Given the description of an element on the screen output the (x, y) to click on. 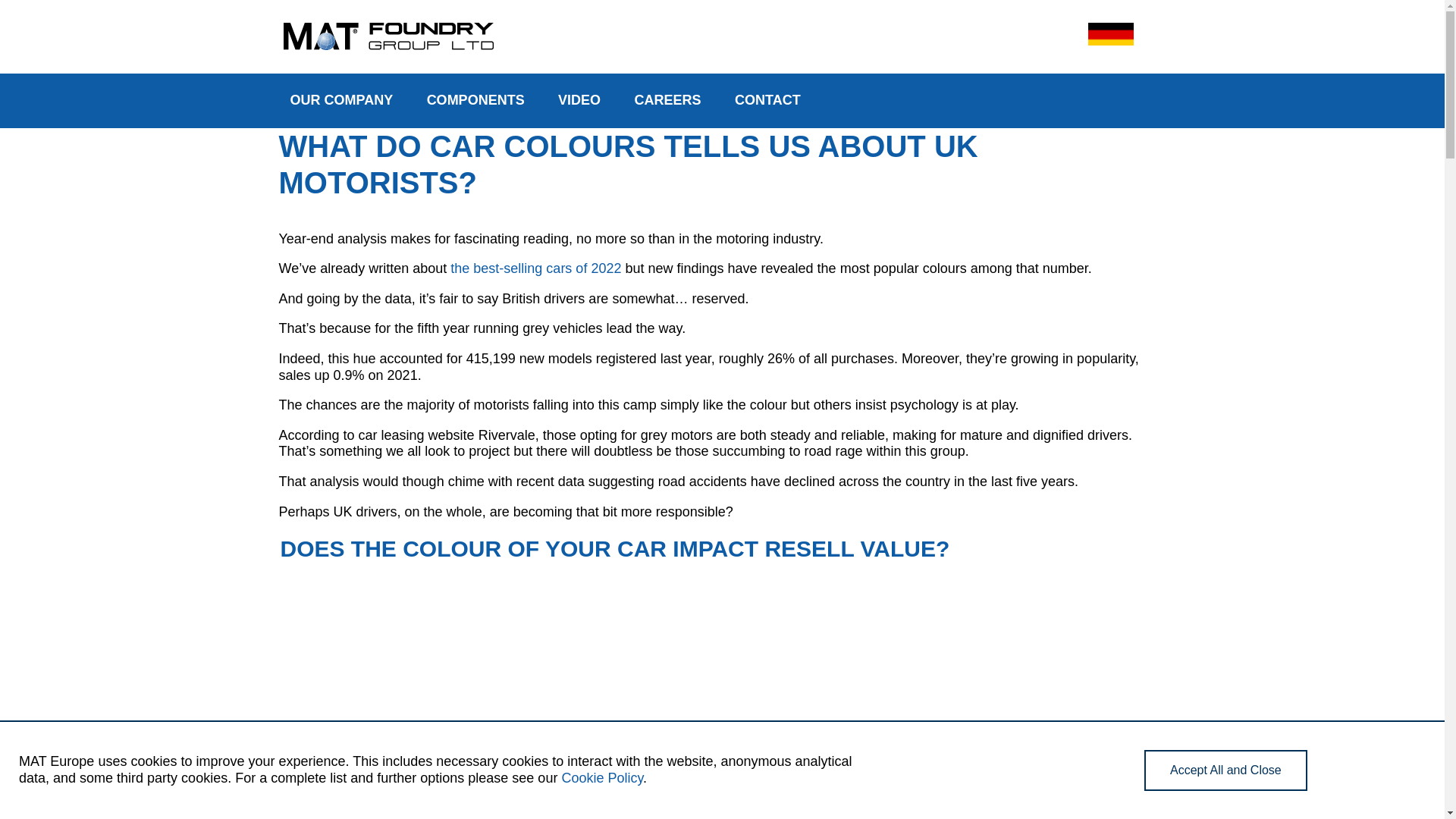
COMPONENTS (476, 100)
OUR COMPANY (341, 100)
